Given the description of an element on the screen output the (x, y) to click on. 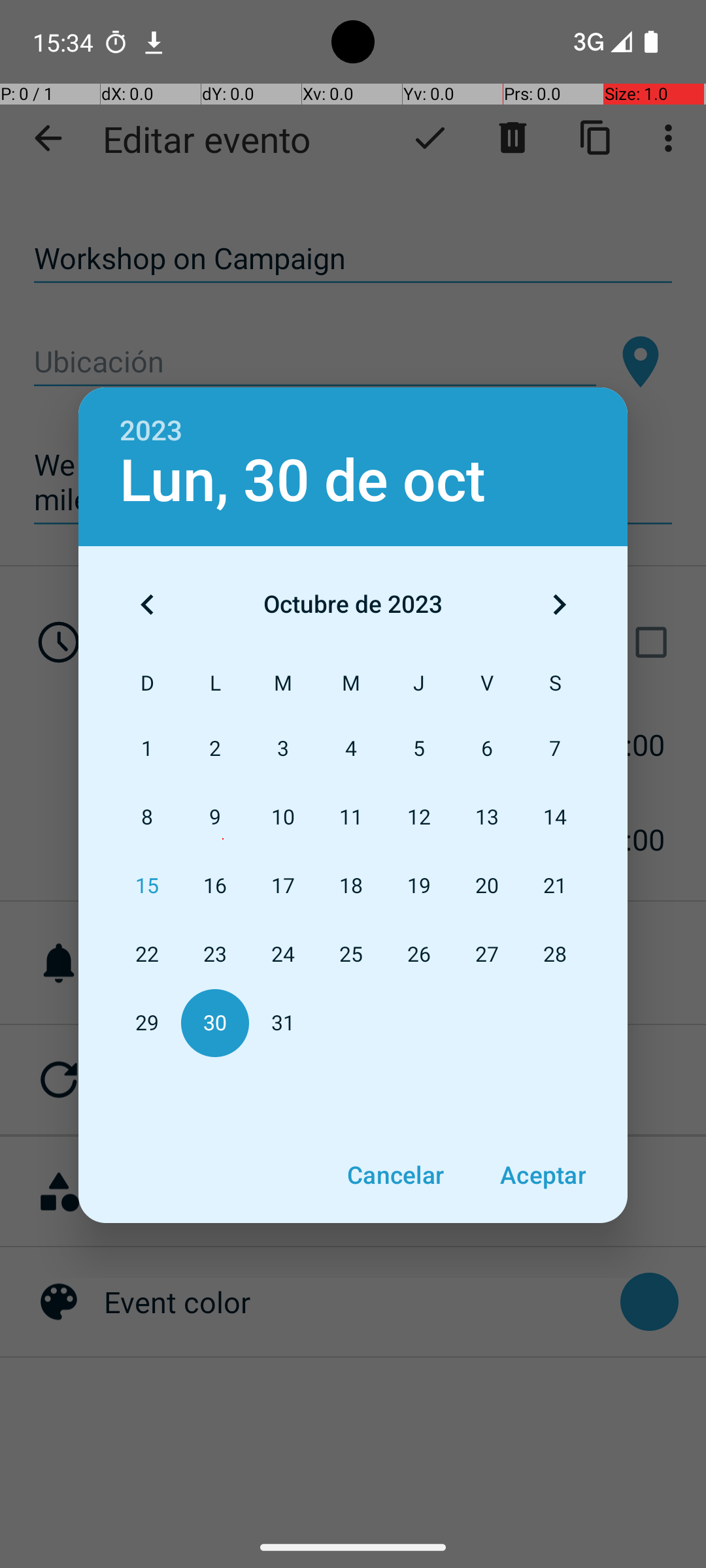
Lun, 30 de oct Element type: android.widget.TextView (302, 480)
Mes anterior Element type: android.widget.ImageButton (146, 604)
Mes siguiente Element type: android.widget.ImageButton (558, 604)
